Given the description of an element on the screen output the (x, y) to click on. 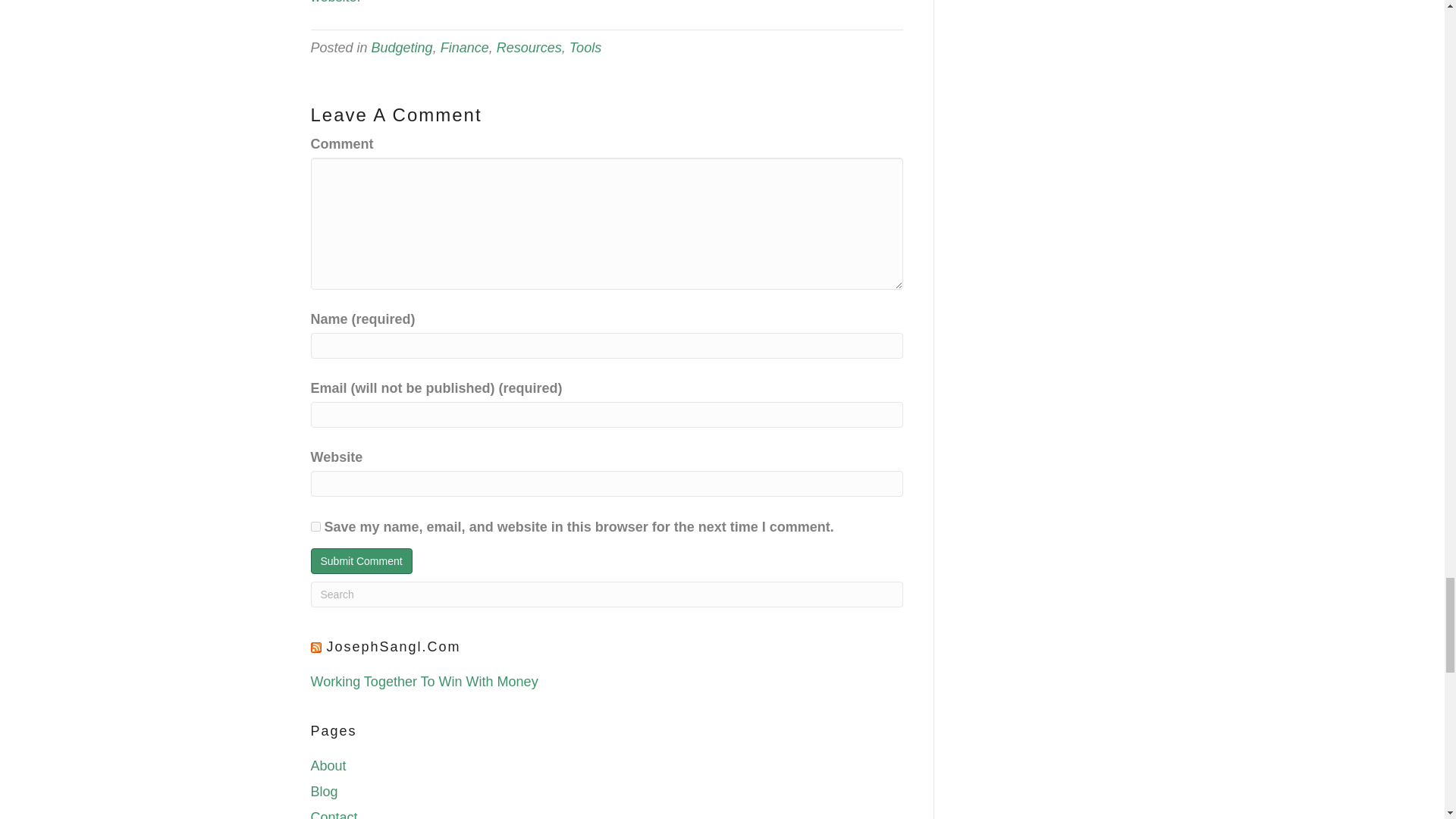
Search (606, 594)
Submit Comment (361, 560)
yes (315, 526)
Search (606, 594)
